Given the description of an element on the screen output the (x, y) to click on. 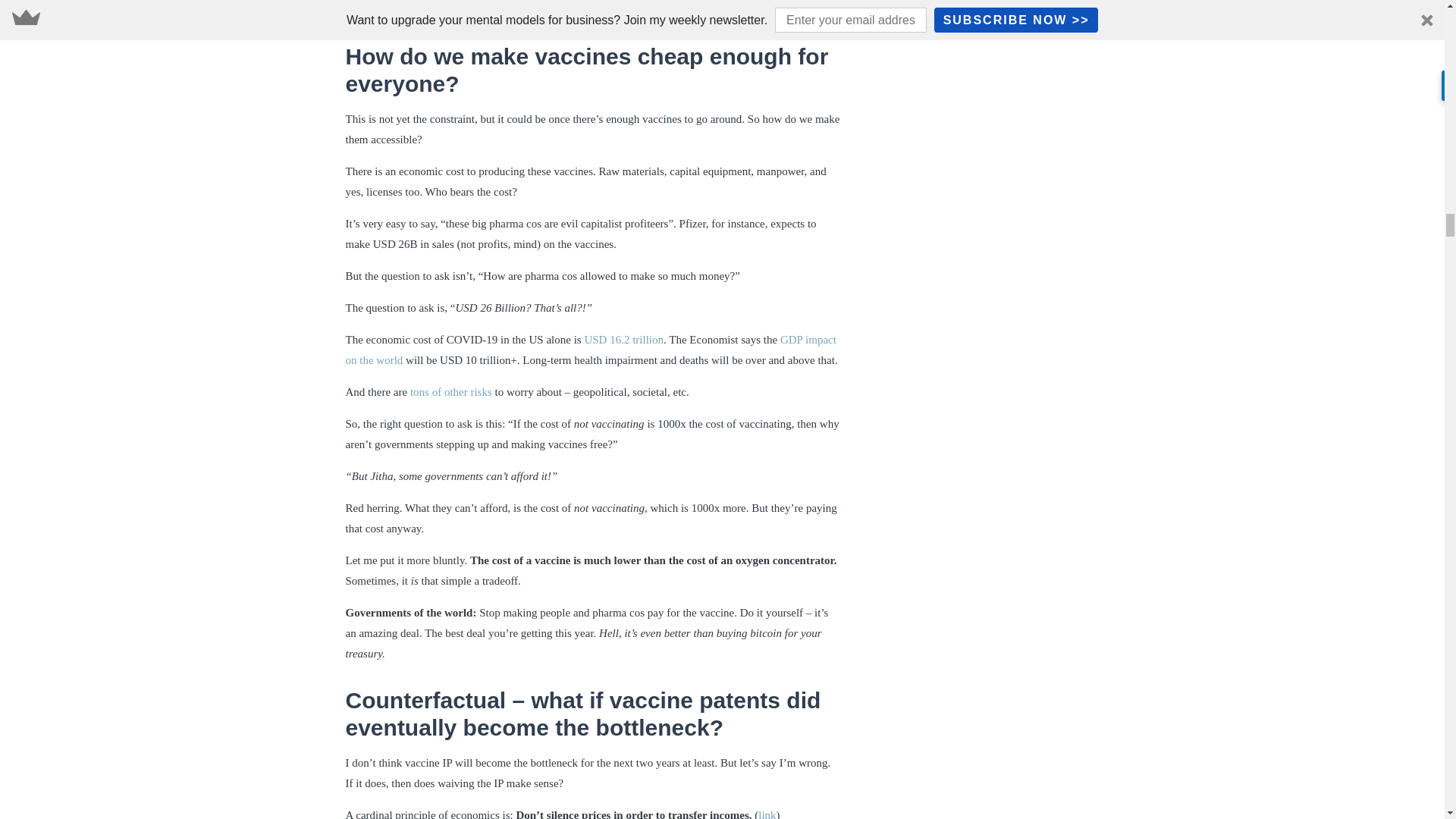
link (767, 814)
GDP impact on the world (590, 349)
USD 16.2 trillion (623, 339)
tons of other risks (451, 391)
